Given the description of an element on the screen output the (x, y) to click on. 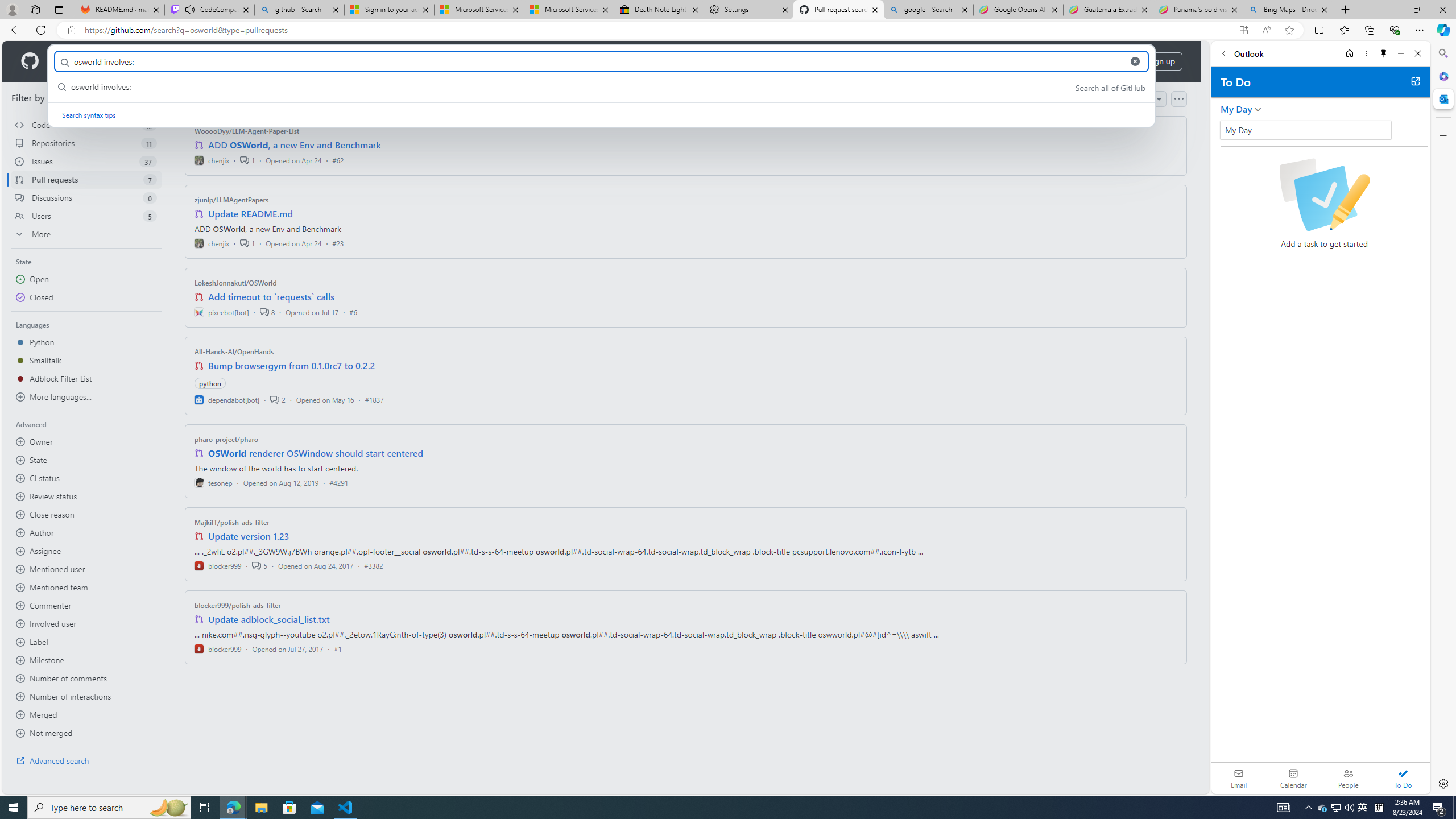
People (1347, 777)
My Day (1305, 130)
